Given the description of an element on the screen output the (x, y) to click on. 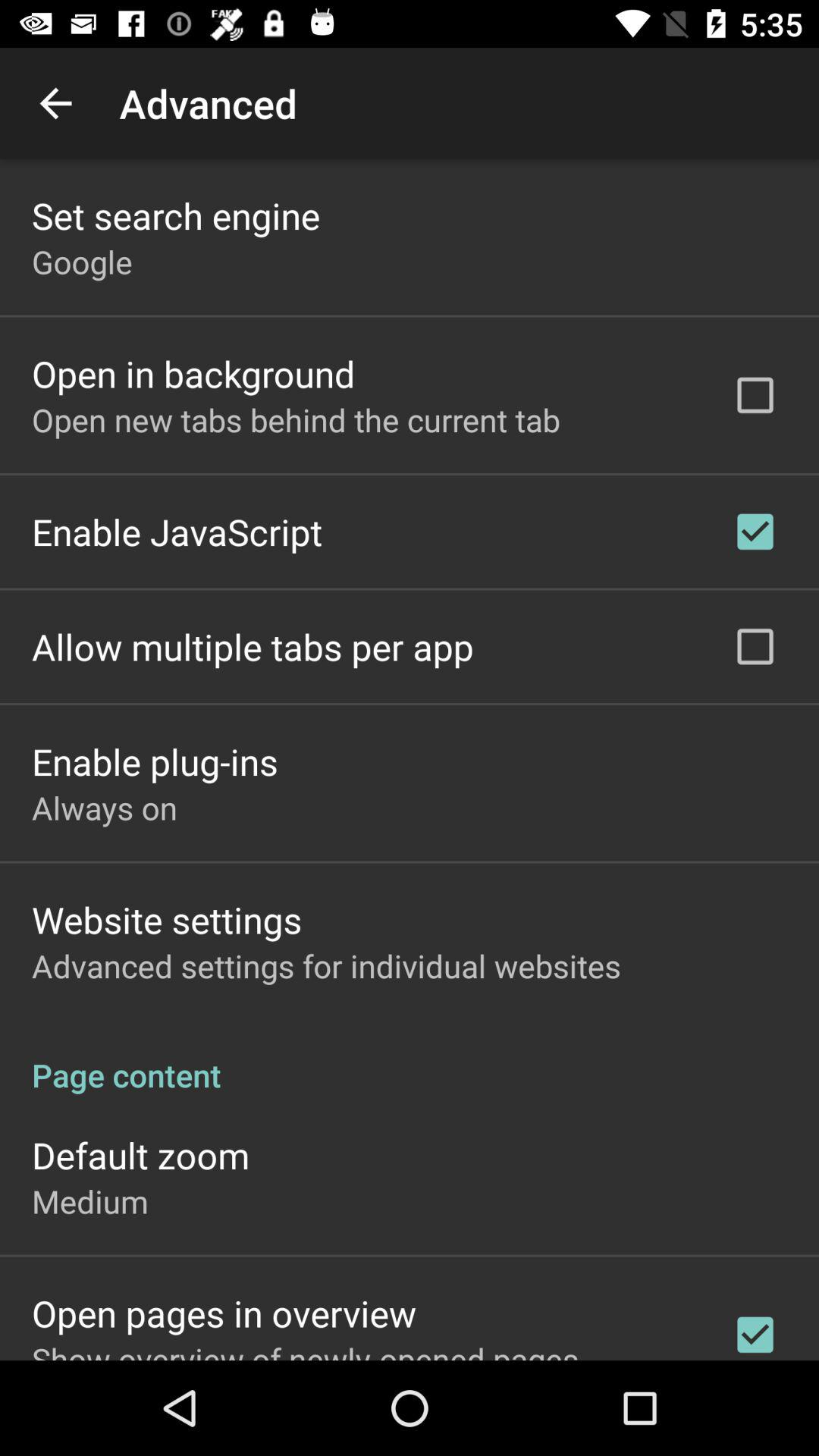
select enable plug-ins icon (154, 761)
